Given the description of an element on the screen output the (x, y) to click on. 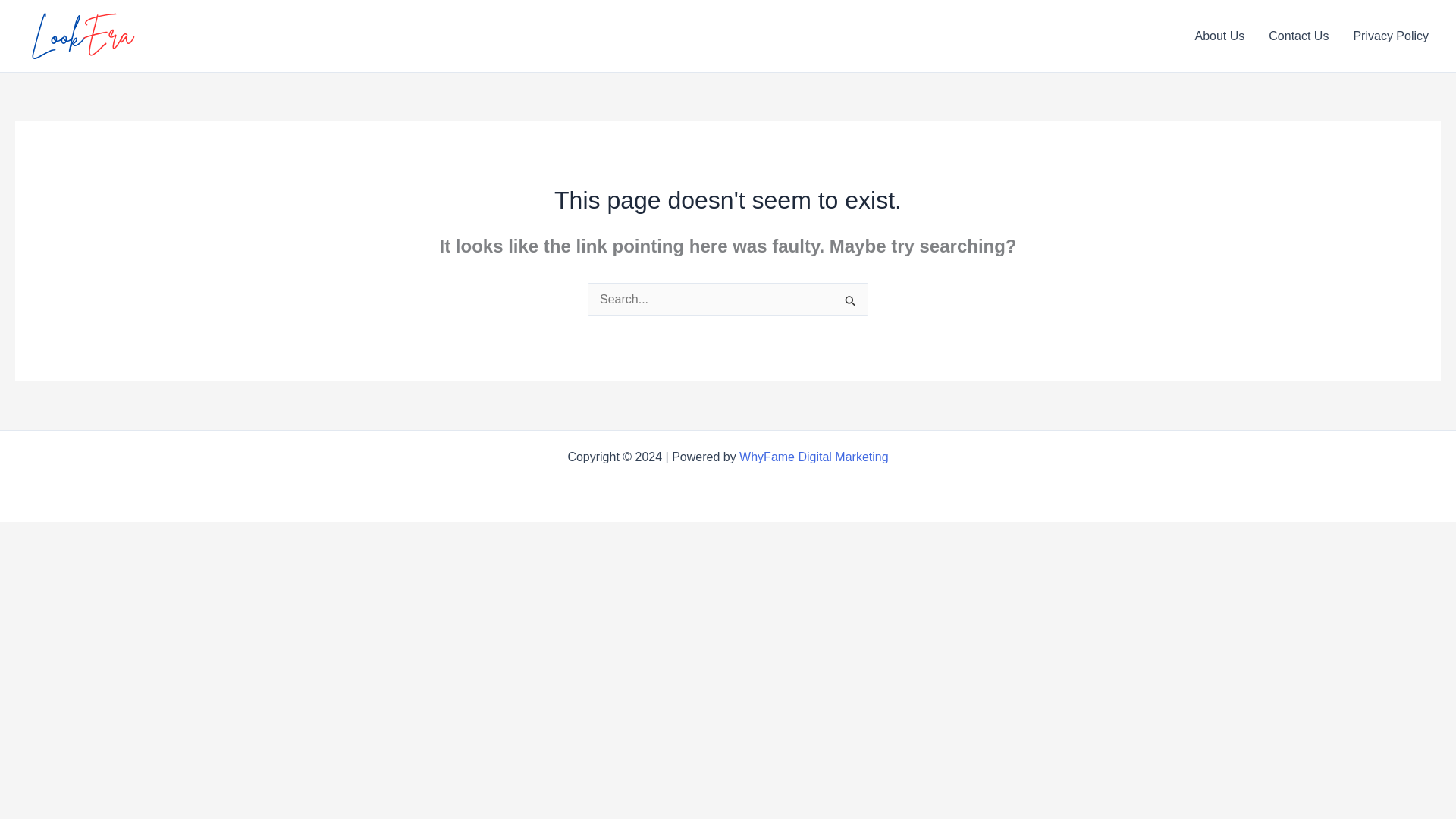
WhyFame Digital Marketing (813, 456)
Contact Us (1298, 35)
About Us (1219, 35)
Privacy Policy (1390, 35)
